Given the description of an element on the screen output the (x, y) to click on. 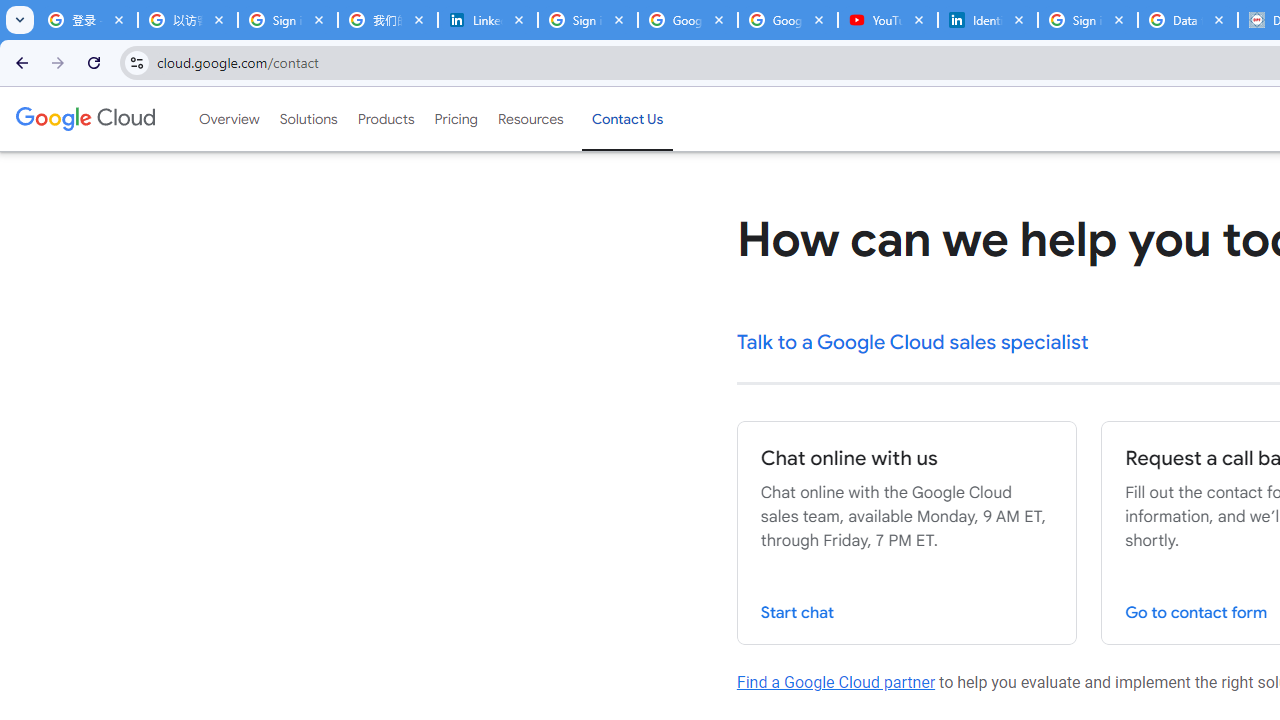
Sign in - Google Accounts (1087, 20)
Resources (530, 119)
LinkedIn Privacy Policy (487, 20)
Google Cloud (84, 118)
Find a Google Cloud partner (835, 682)
